Given the description of an element on the screen output the (x, y) to click on. 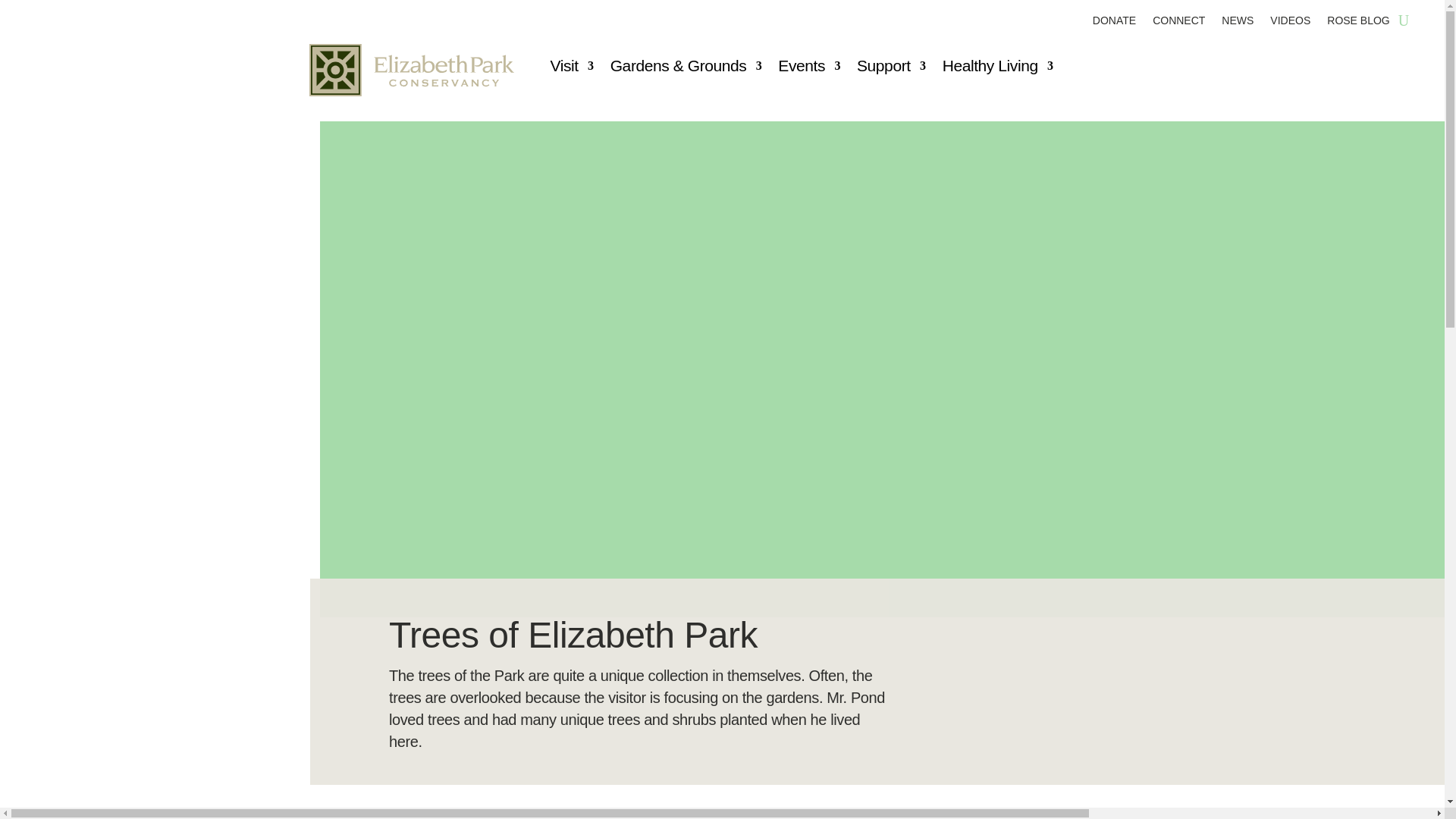
NEWS (1237, 23)
VIDEOS (1289, 23)
ROSE BLOG (1357, 23)
CONNECT (1179, 23)
DONATE (1114, 23)
Events (808, 68)
EPC logo Final (410, 70)
Visit (572, 68)
Support (891, 68)
